Given the description of an element on the screen output the (x, y) to click on. 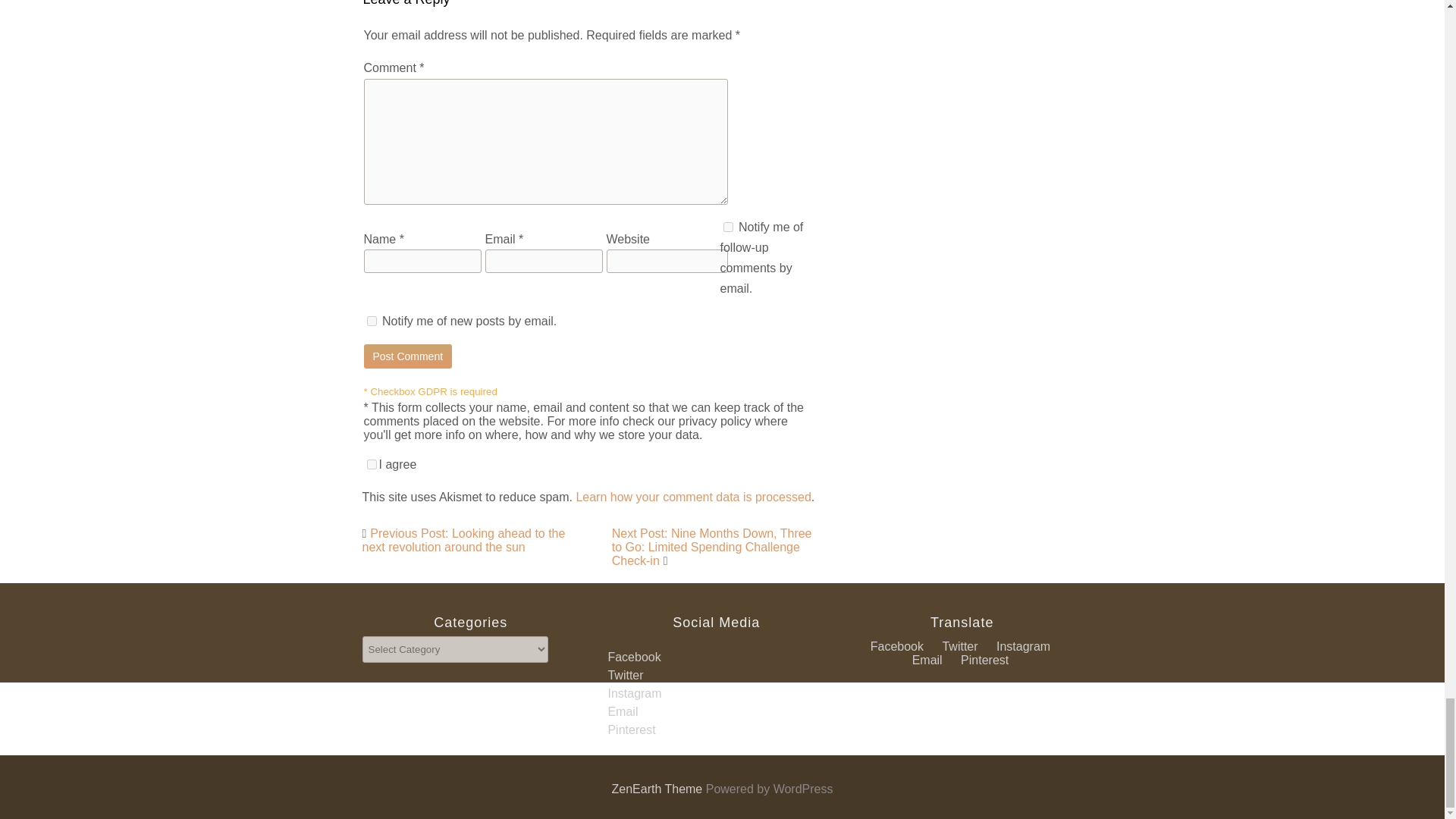
on (371, 464)
subscribe (728, 226)
subscribe (371, 320)
Post Comment (408, 355)
ZenEarth Theme (657, 788)
